Given the description of an element on the screen output the (x, y) to click on. 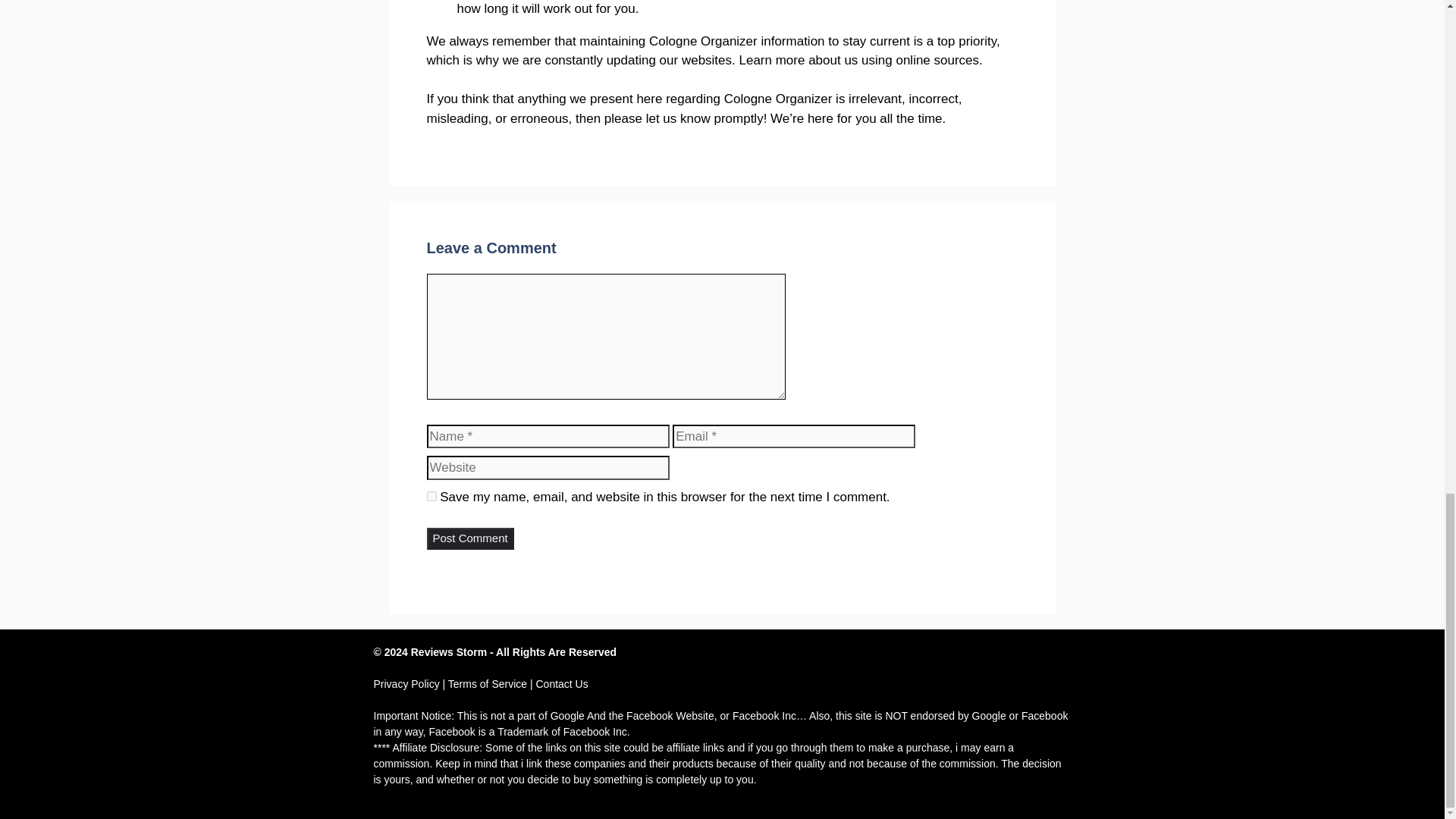
yes (430, 496)
Post Comment (469, 538)
Terms of Service (487, 684)
Post Comment (469, 538)
Contact Us (561, 684)
Reviews Storm (448, 652)
Privacy Policy (405, 684)
